Given the description of an element on the screen output the (x, y) to click on. 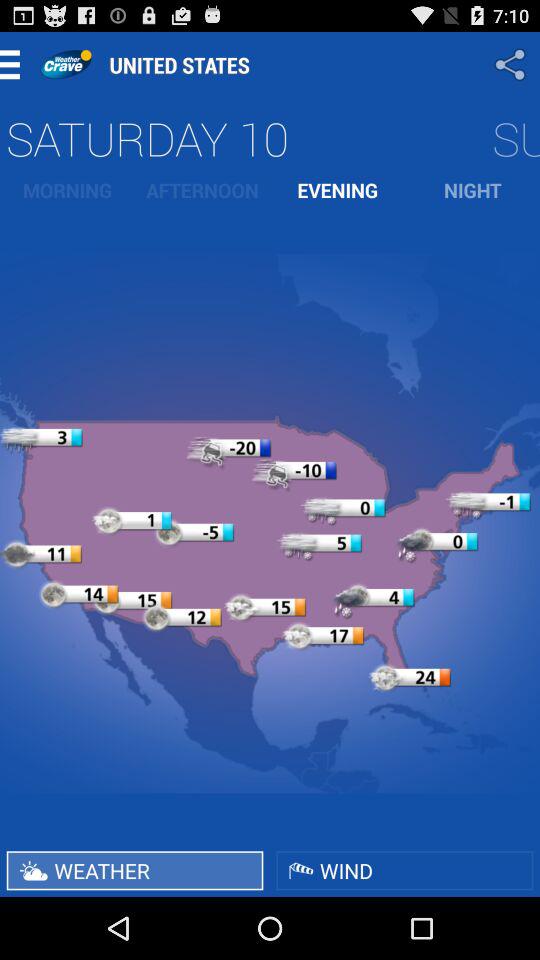
opens a webpage (65, 64)
